Given the description of an element on the screen output the (x, y) to click on. 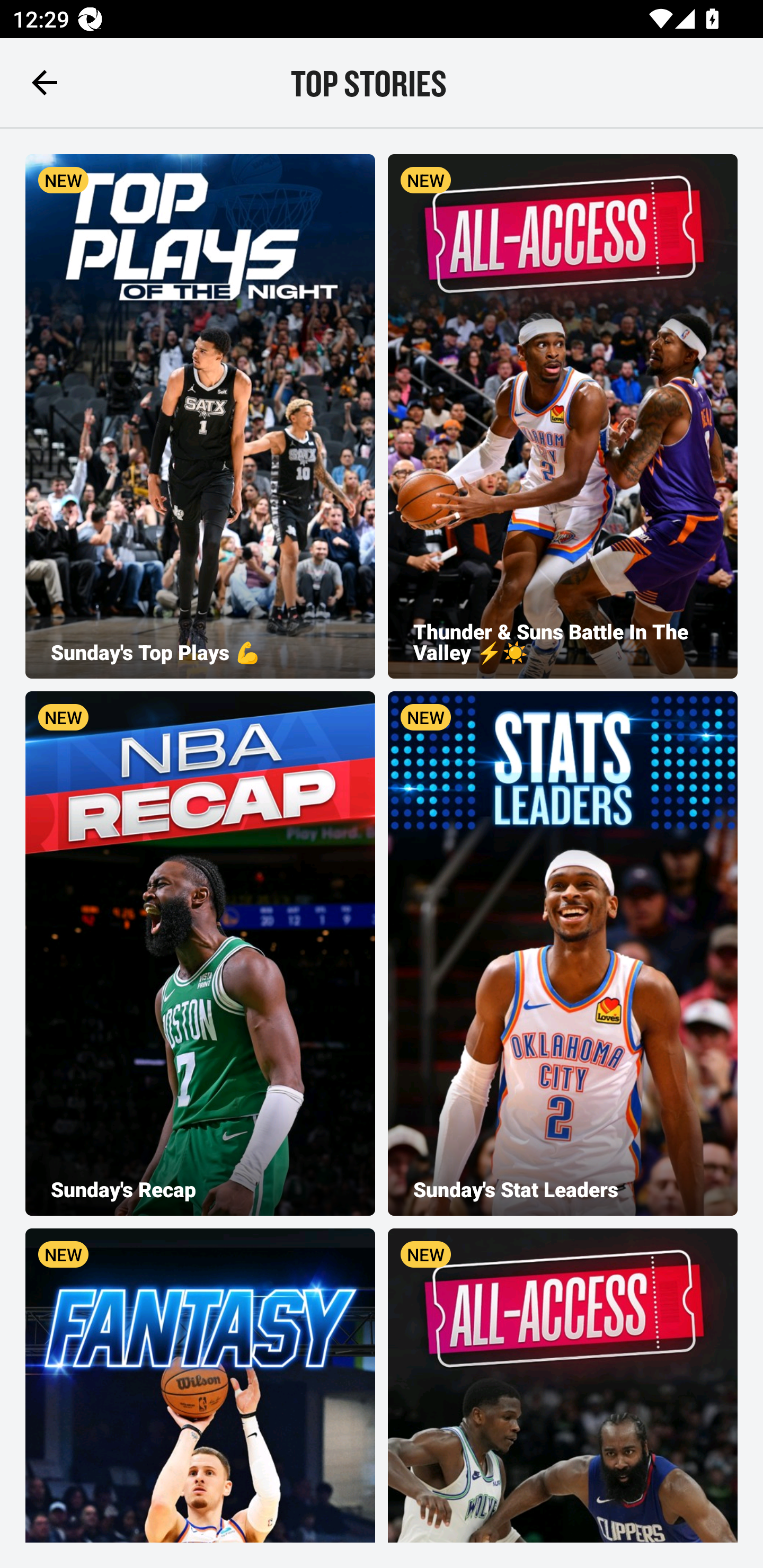
Navigate up (44, 82)
NEW Sunday's Top Plays 💪 (200, 415)
NEW Thunder & Suns Battle In The Valley ⚡☀ (562, 415)
NEW Sunday's Recap (200, 953)
NEW Sunday's Stat Leaders (562, 953)
NEW (200, 1384)
NEW (562, 1384)
